Given the description of an element on the screen output the (x, y) to click on. 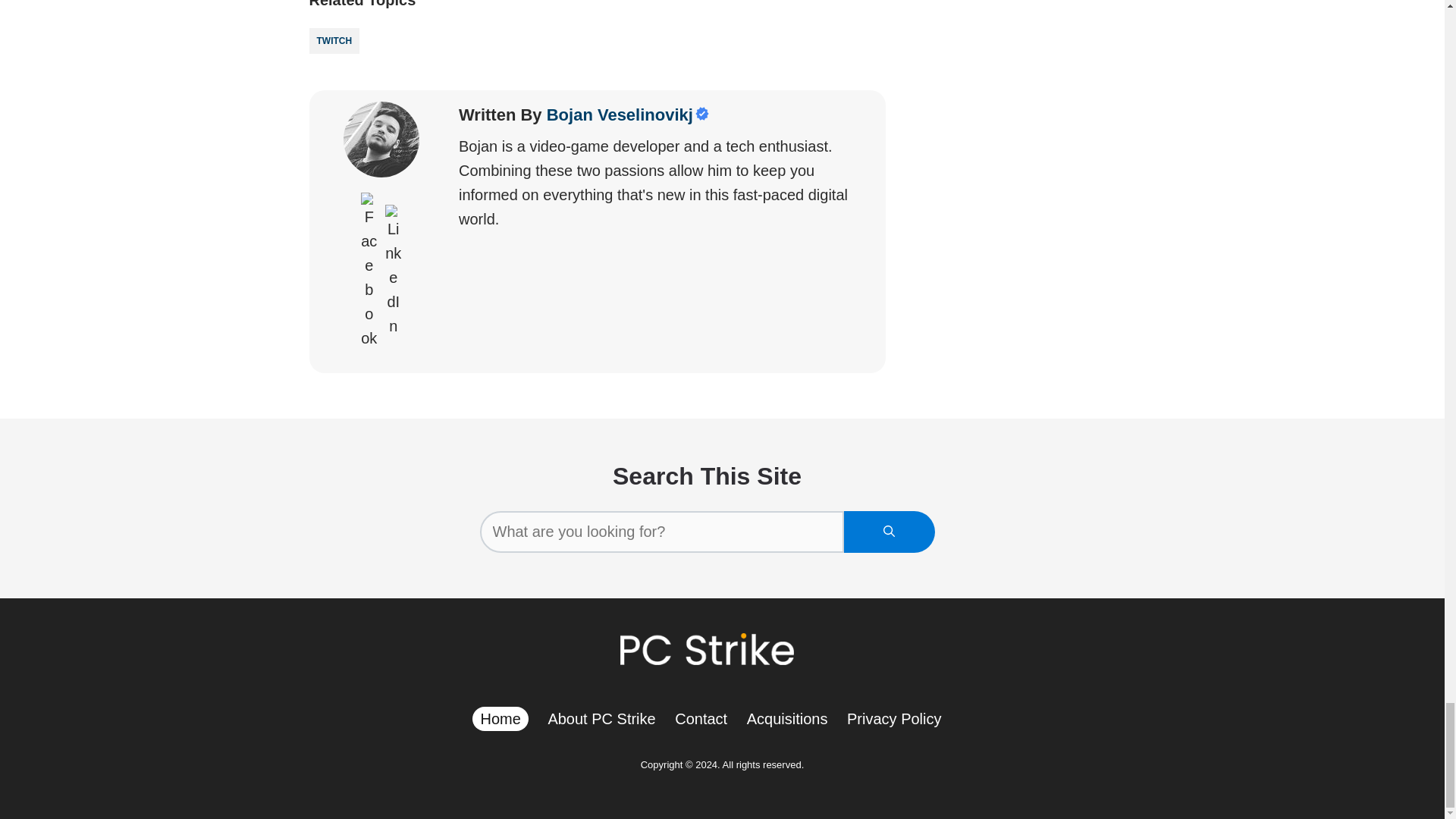
Search for: (661, 531)
